Given the description of an element on the screen output the (x, y) to click on. 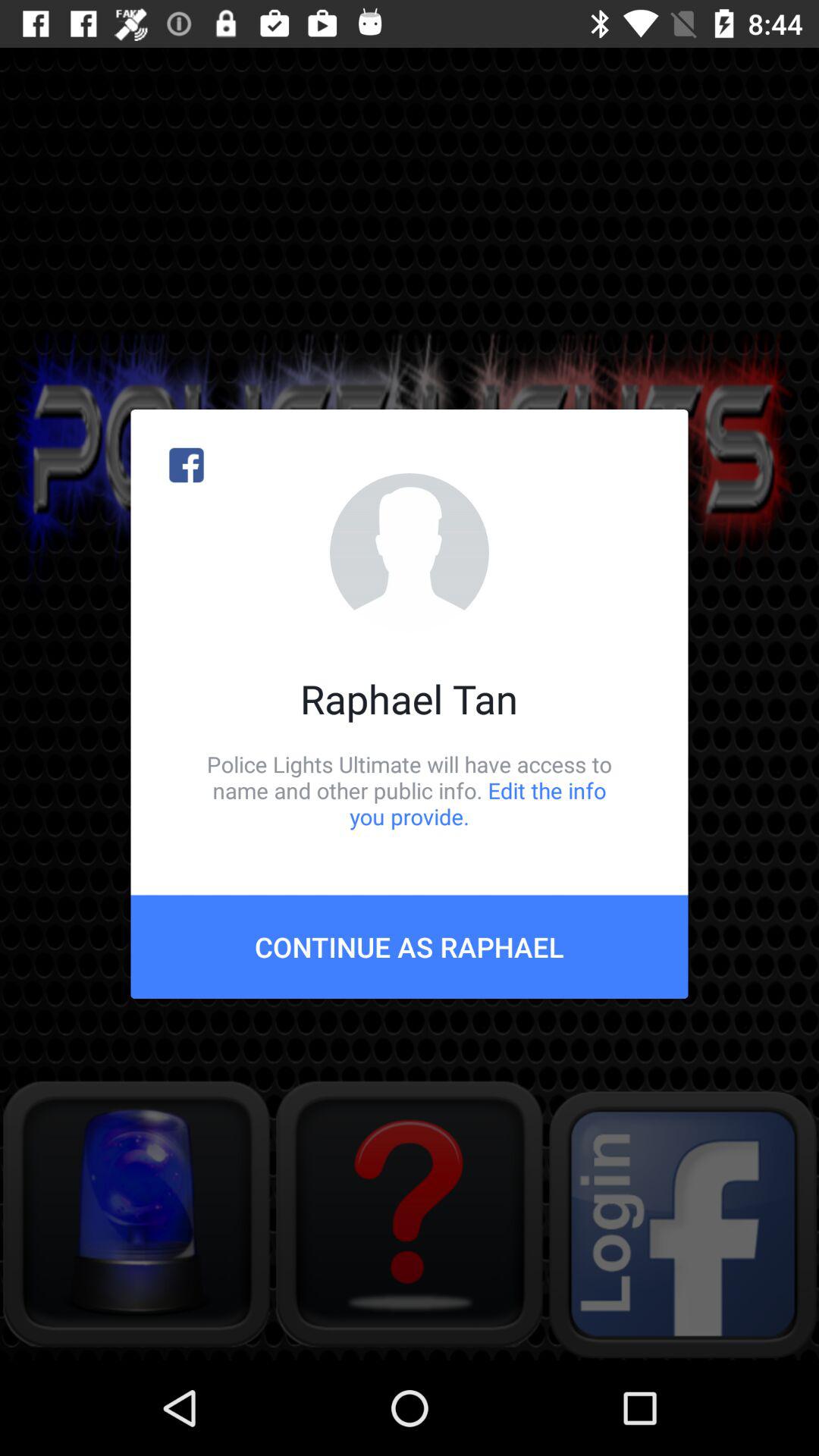
flip until continue as raphael (409, 946)
